Given the description of an element on the screen output the (x, y) to click on. 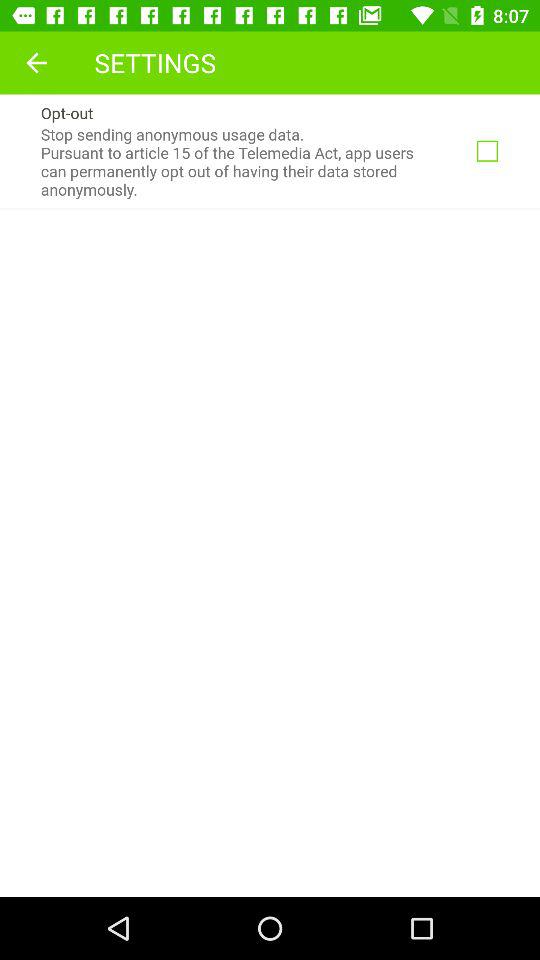
launch the item next to the settings icon (36, 62)
